Given the description of an element on the screen output the (x, y) to click on. 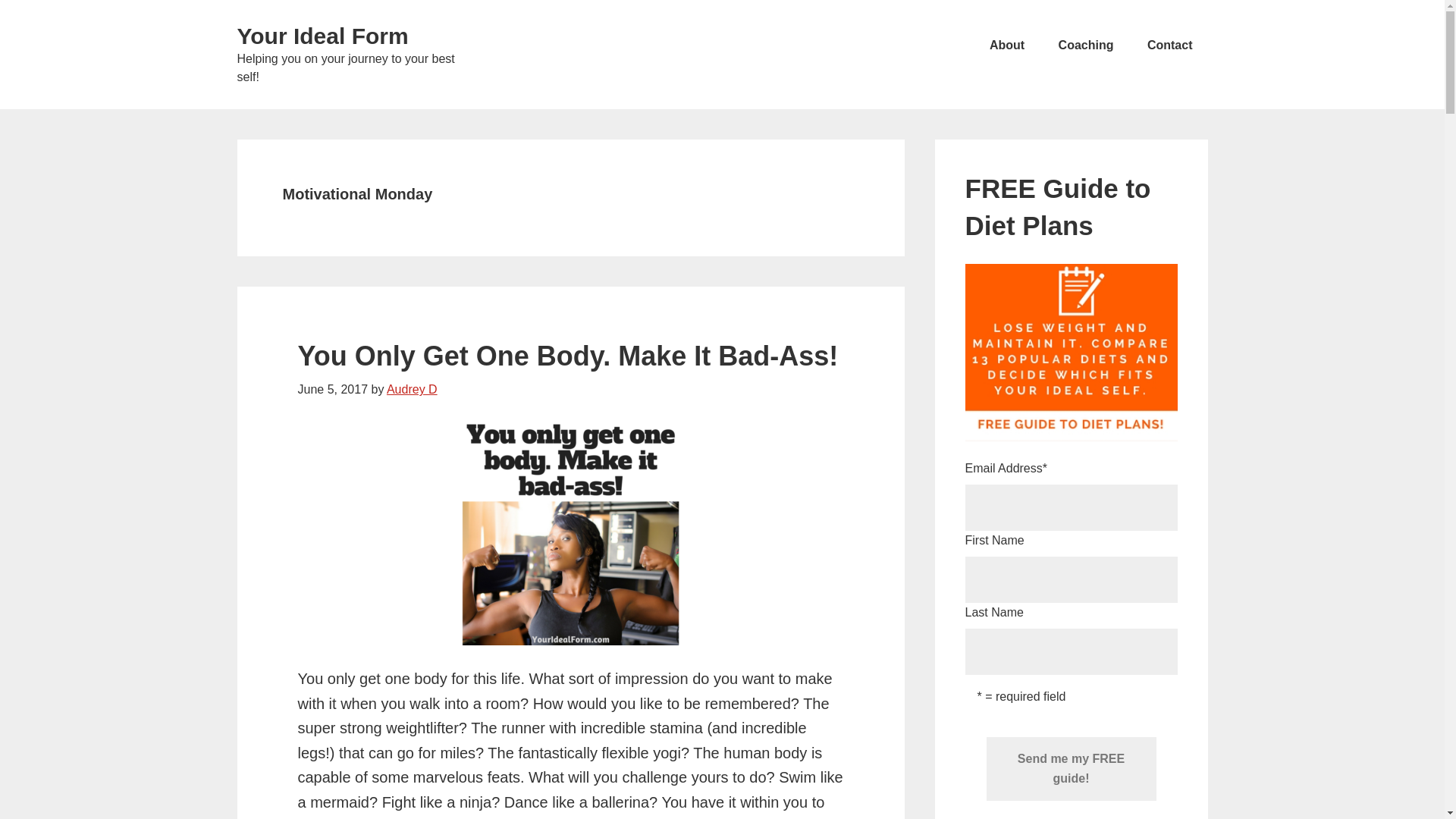
You Only Get One Body. Make It Bad-Ass! (567, 355)
Contact (1170, 45)
Send me my FREE guide! (1070, 768)
Audrey D (412, 389)
superhero (455, 818)
About (1006, 45)
Your Ideal Form (321, 35)
Coaching (1086, 45)
